Given the description of an element on the screen output the (x, y) to click on. 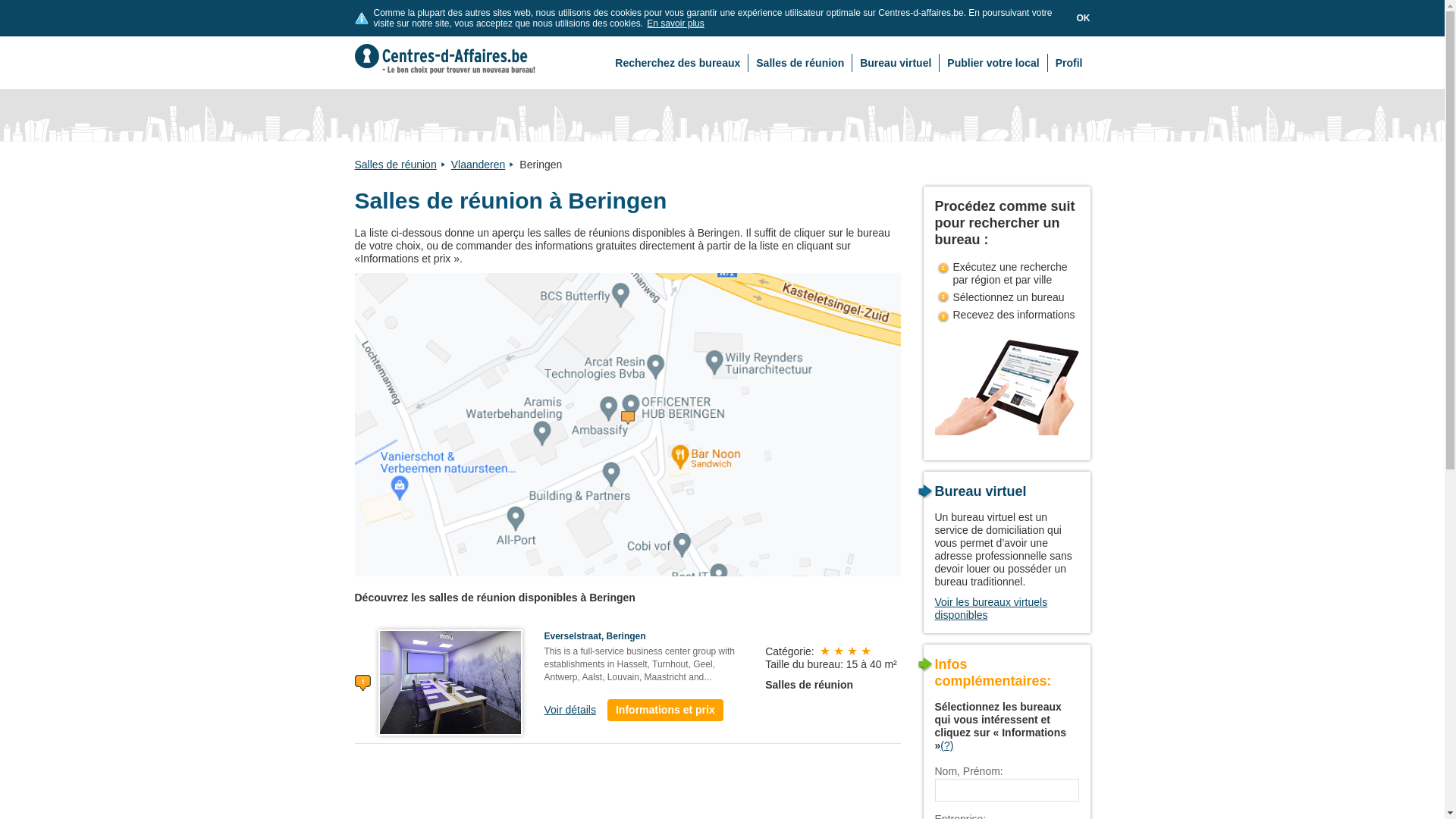
Recherchez des bureaux Element type: text (677, 62)
Everselstraat, Beringen Element type: text (595, 635)
Voir les bureaux virtuels disponibles Element type: text (990, 608)
En savoir plus Element type: text (674, 23)
Everselstraat, Beringen Element type: hover (449, 681)
Profil Element type: text (1068, 62)
Informations et prix Element type: text (665, 710)
Vlaanderen Element type: text (483, 164)
Publier votre local Element type: text (992, 62)
Bureau virtuel Element type: text (895, 62)
